Given the description of an element on the screen output the (x, y) to click on. 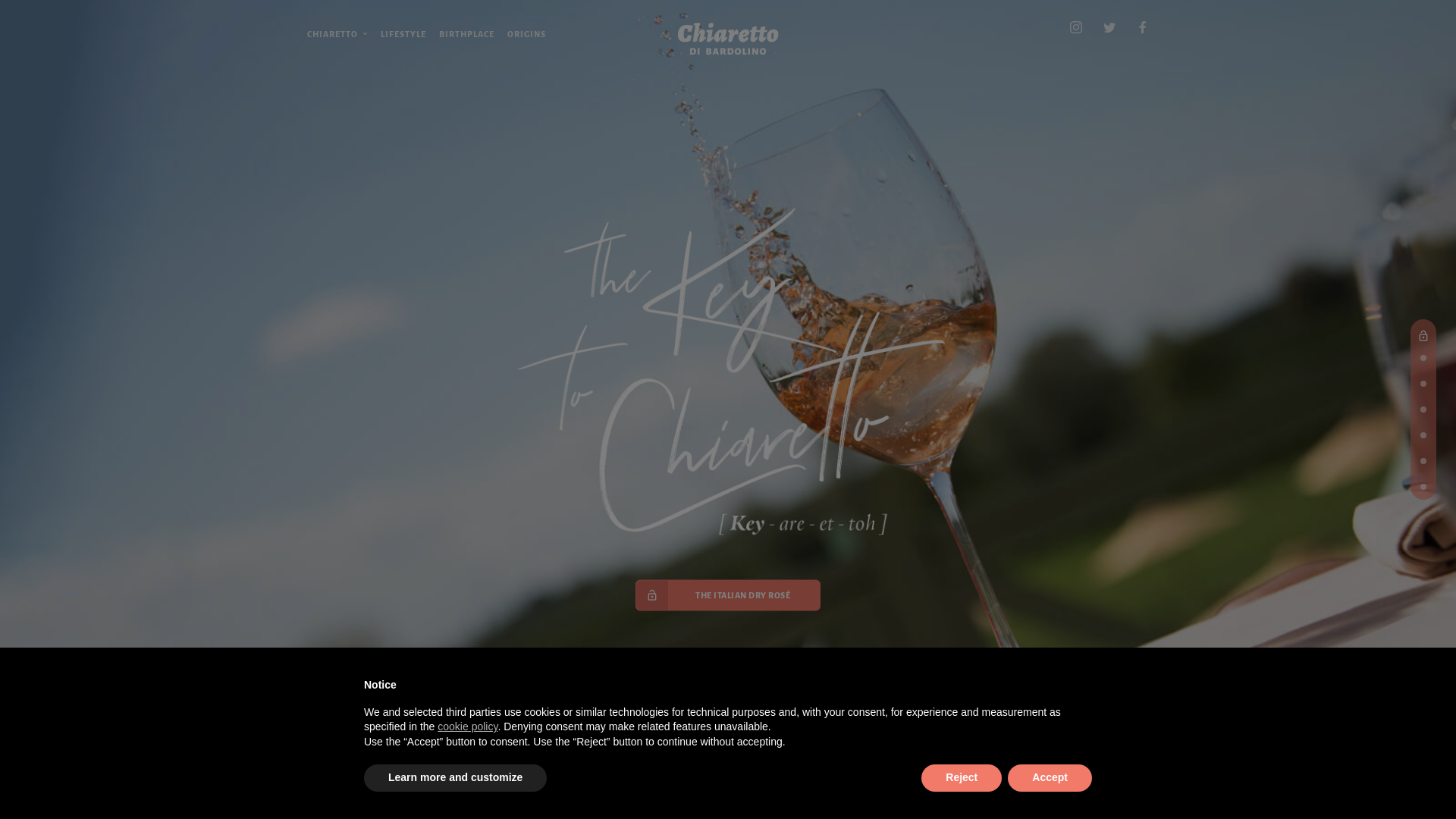
ORIGINS Element type: text (526, 33)
Accept Element type: text (1049, 777)
Reject Element type: text (961, 777)
BIRTHPLACE Element type: text (466, 33)
lock_open Element type: text (1423, 332)
LIFESTYLE Element type: text (403, 33)
cookie policy Element type: text (467, 726)
Learn more and customize Element type: text (455, 777)
